Given the description of an element on the screen output the (x, y) to click on. 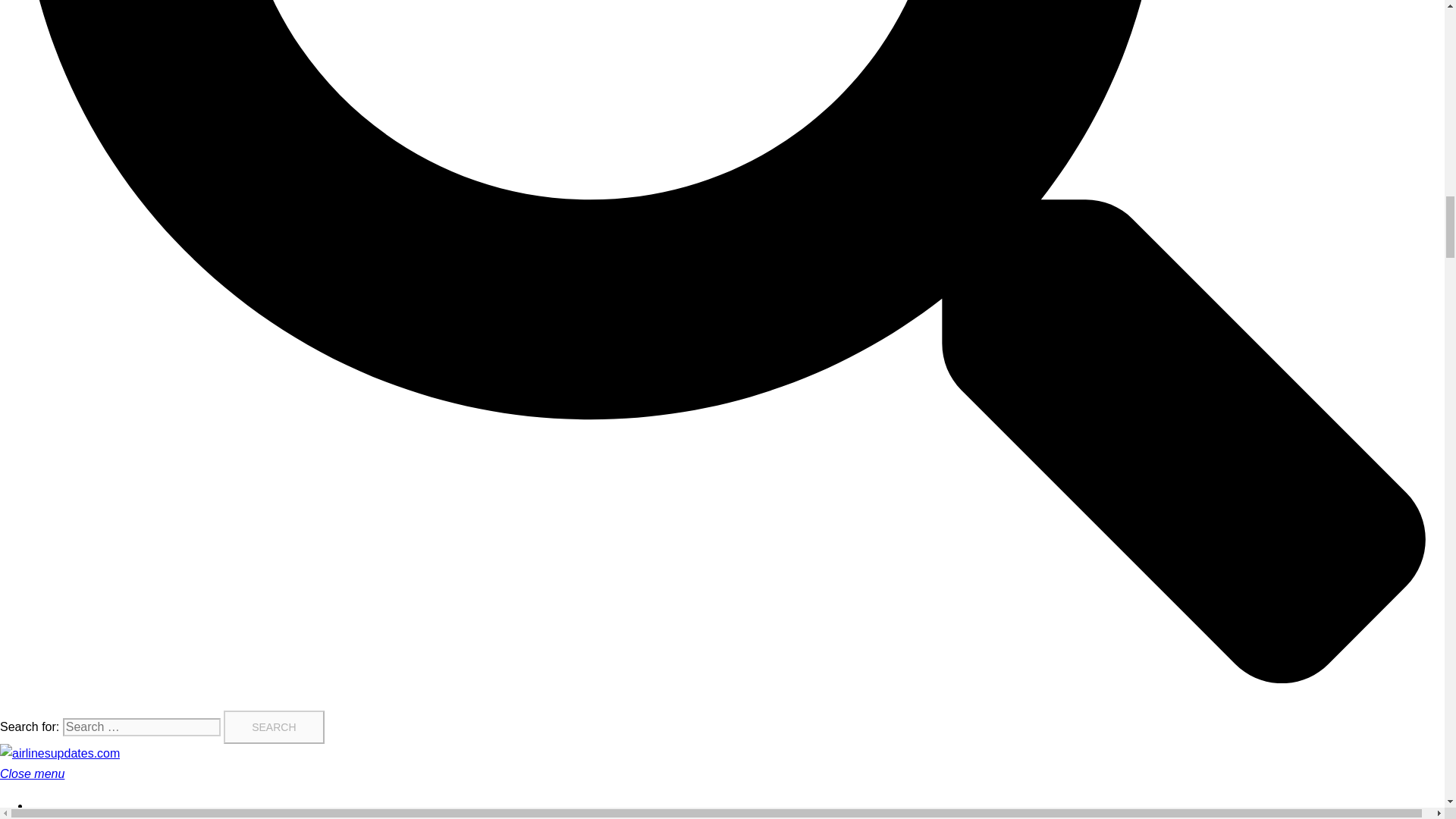
airlinesupdates.com (59, 753)
Flight Change (68, 815)
Search (273, 726)
Search (273, 726)
Close menu (38, 773)
Search (273, 726)
Flight Cancellation (80, 805)
